Given the description of an element on the screen output the (x, y) to click on. 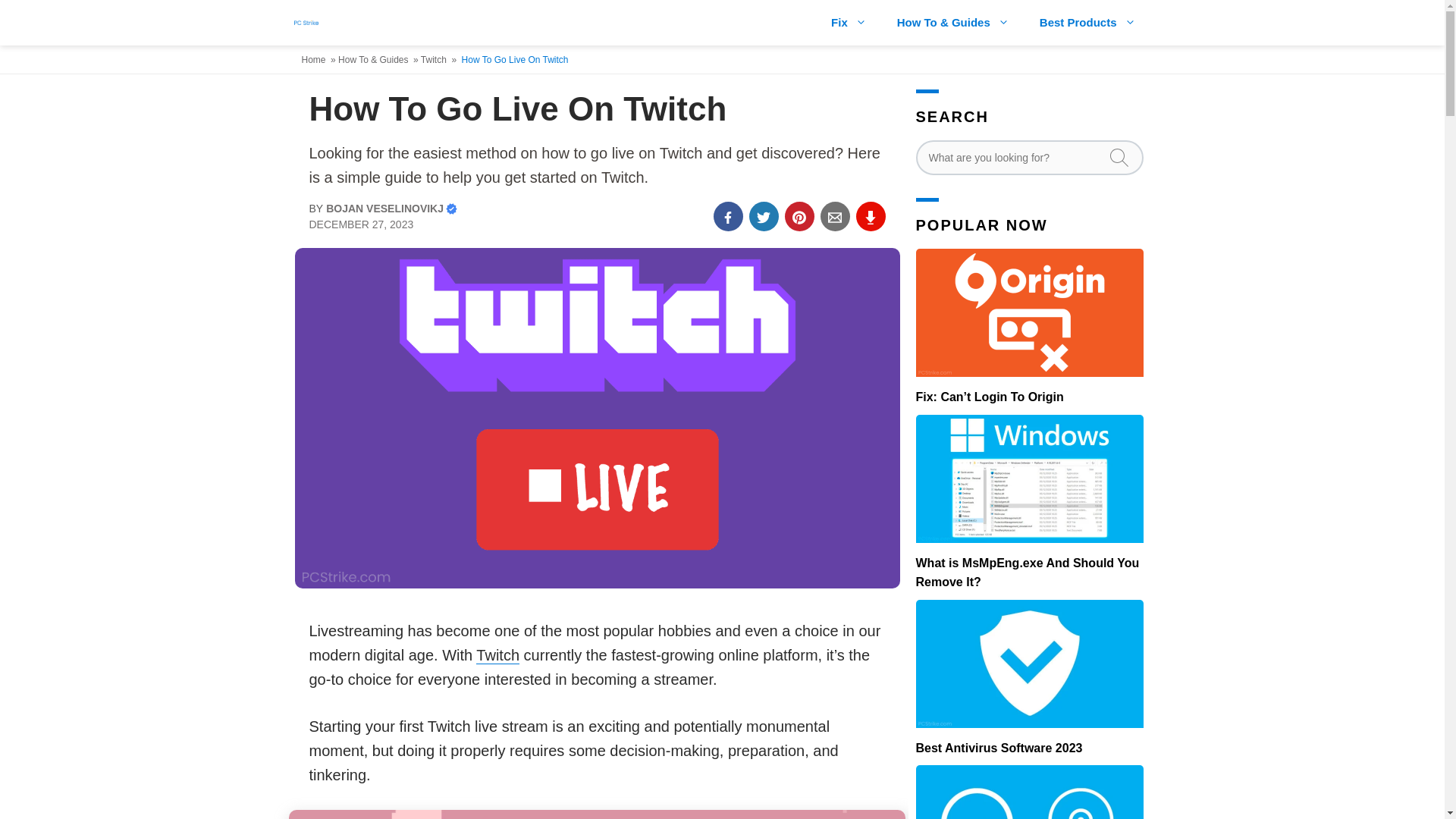
Fix (848, 22)
Search for: (1028, 157)
Best Products (1088, 22)
PC Strike (306, 22)
Home (315, 59)
Download PDF (870, 215)
Twitch (434, 59)
